Given the description of an element on the screen output the (x, y) to click on. 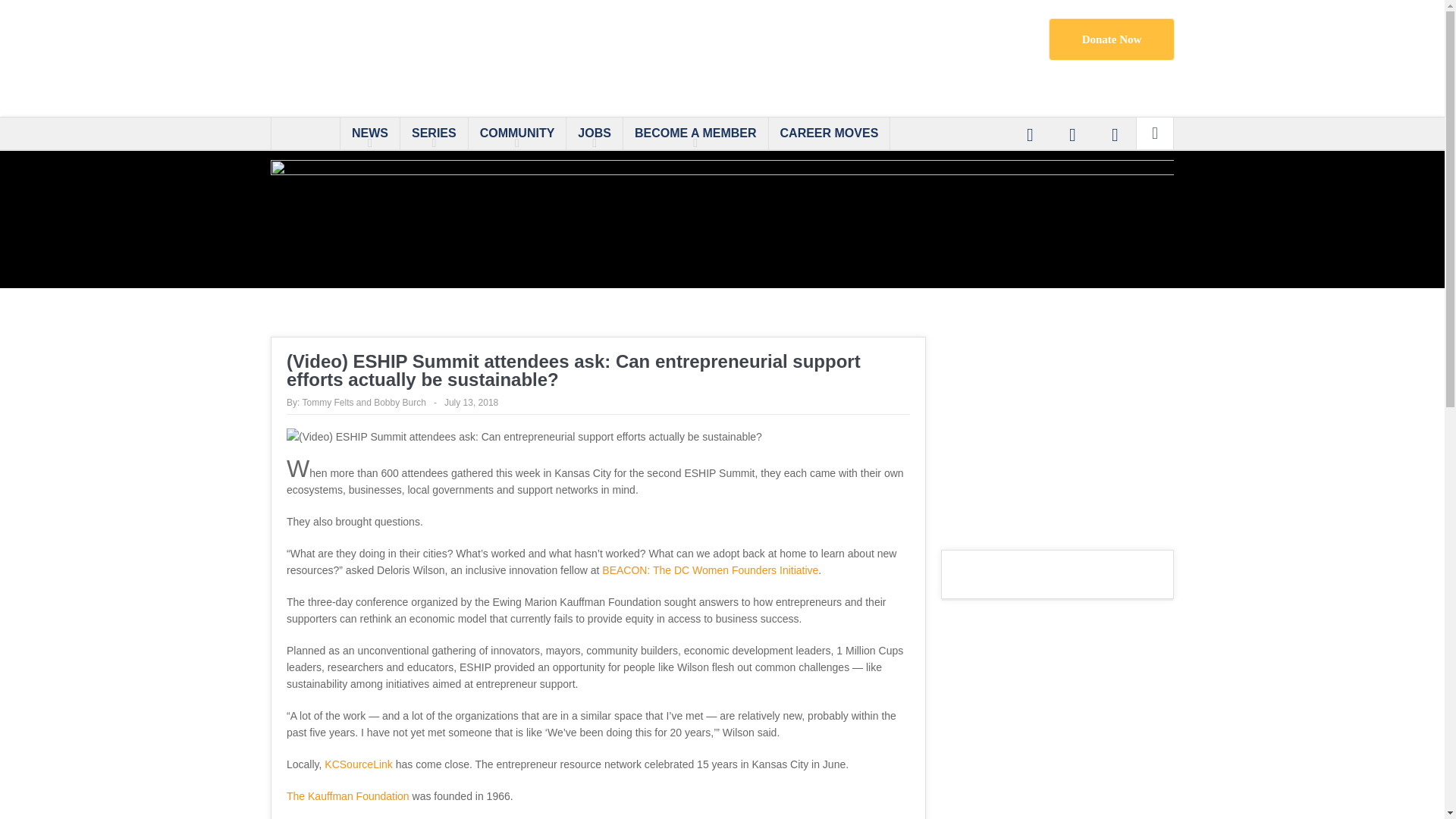
COMMUNITY (517, 133)
NEWS (369, 133)
Donate Now (1111, 38)
Home (305, 133)
SERIES (433, 133)
